Given the description of an element on the screen output the (x, y) to click on. 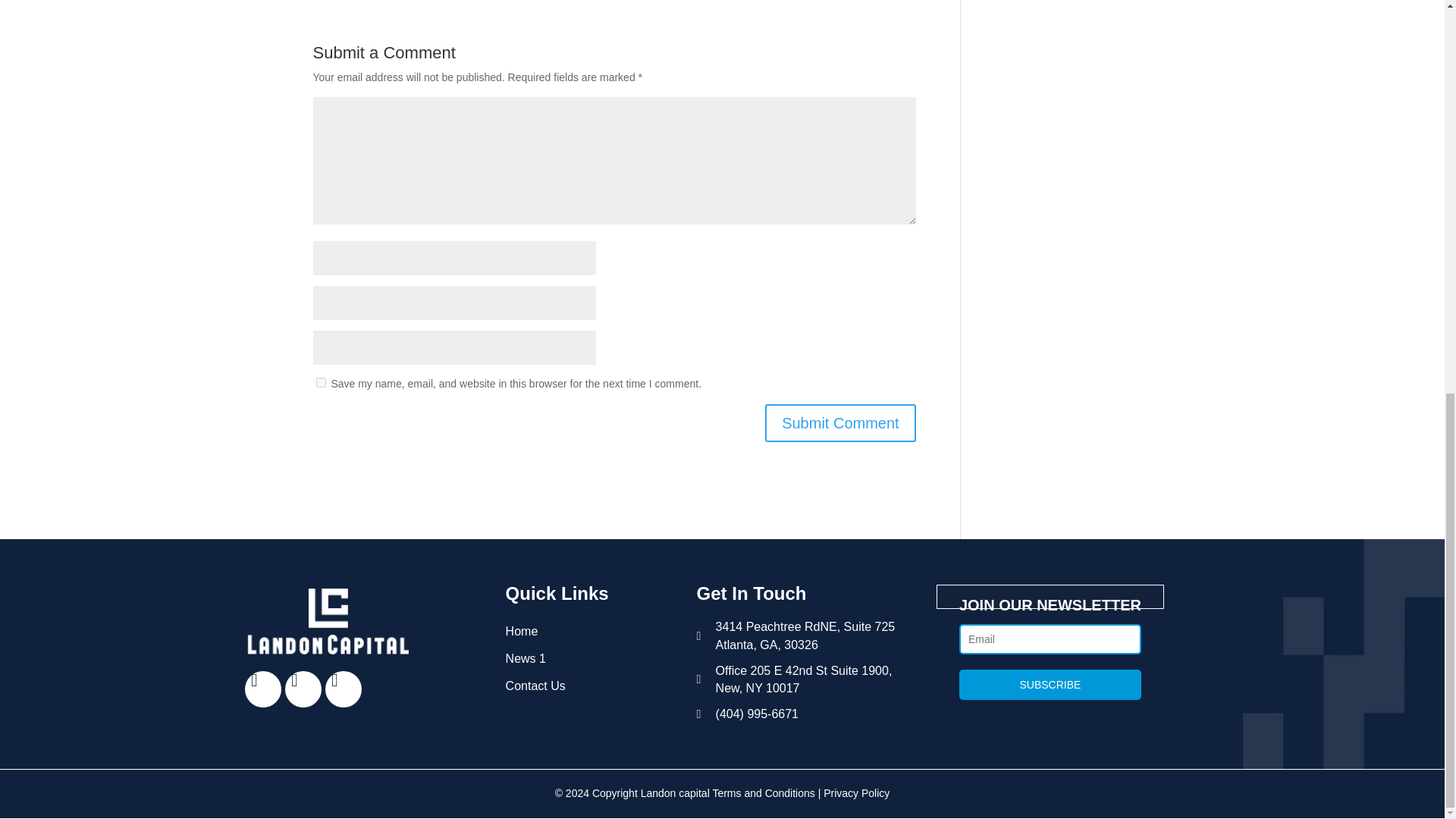
Home (593, 631)
Submit Comment (840, 423)
News 1 (593, 658)
SUBSCRIBE (1050, 684)
yes (319, 382)
Submit Comment (840, 423)
